Given the description of an element on the screen output the (x, y) to click on. 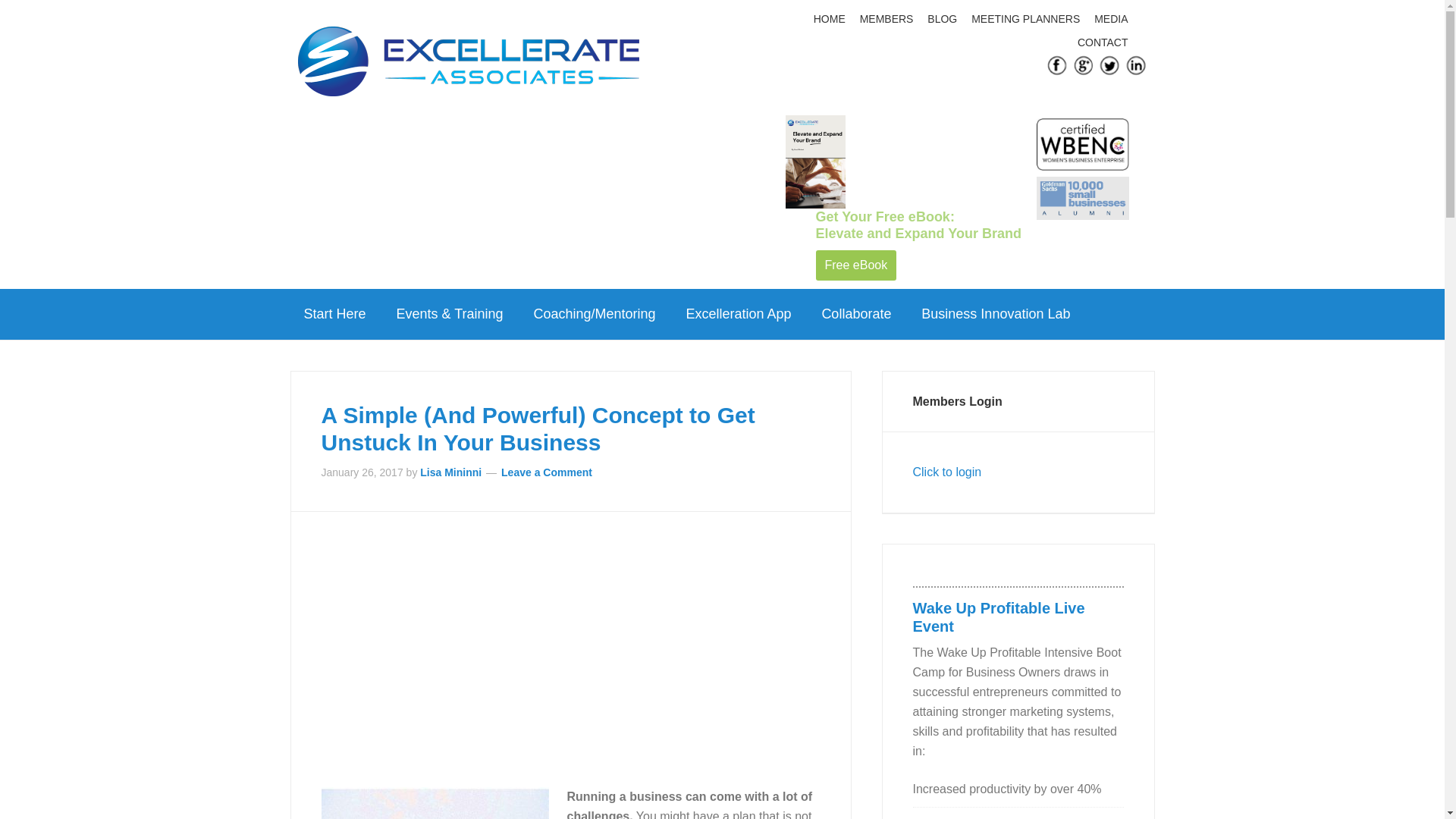
Wake Up Profitable Boot Camp for Business Owners (998, 616)
Excellerate Associates (468, 66)
MEDIA (1112, 19)
BLOG (943, 19)
HOME (831, 19)
Start Here (333, 314)
MEMBERS (888, 19)
MEETING PLANNERS (1027, 19)
CONTACT (1104, 42)
Free eBook (855, 265)
